Given the description of an element on the screen output the (x, y) to click on. 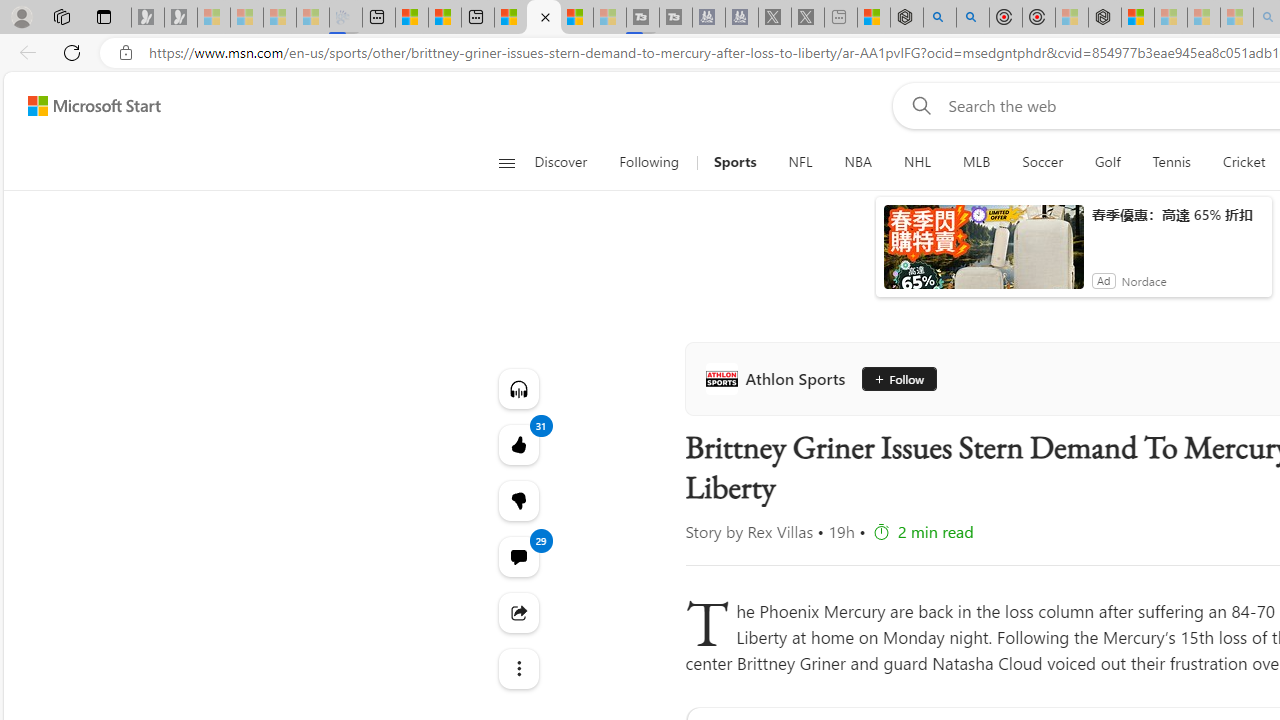
View site information (125, 53)
Golf (1107, 162)
NHL (918, 162)
Discover (560, 162)
NFL (800, 162)
Tab actions menu (104, 16)
31 Like (517, 444)
MLB (977, 162)
New tab - Sleeping (841, 17)
Follow (898, 378)
Listen to this article (517, 388)
Tennis (1171, 162)
